Given the description of an element on the screen output the (x, y) to click on. 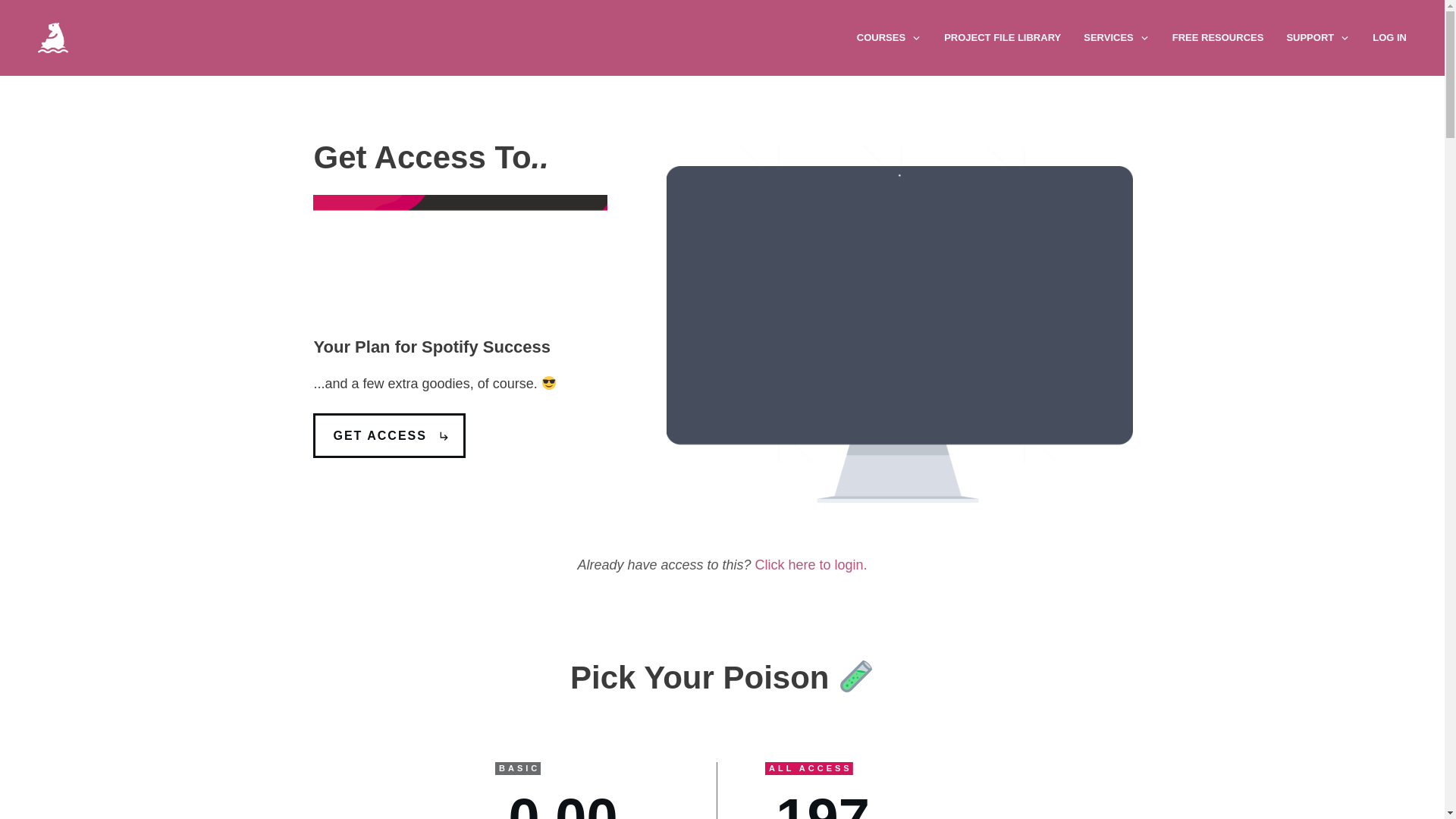
Click here to login. (811, 564)
PROJECT FILE LIBRARY (1002, 37)
SUPPORT (1317, 37)
Responsive Video (899, 304)
LOG IN (1389, 37)
GET ACCESS (388, 435)
SERVICES (1116, 37)
FREE RESOURCES (1217, 37)
COURSES (889, 37)
GET ACCESS (388, 435)
